Given the description of an element on the screen output the (x, y) to click on. 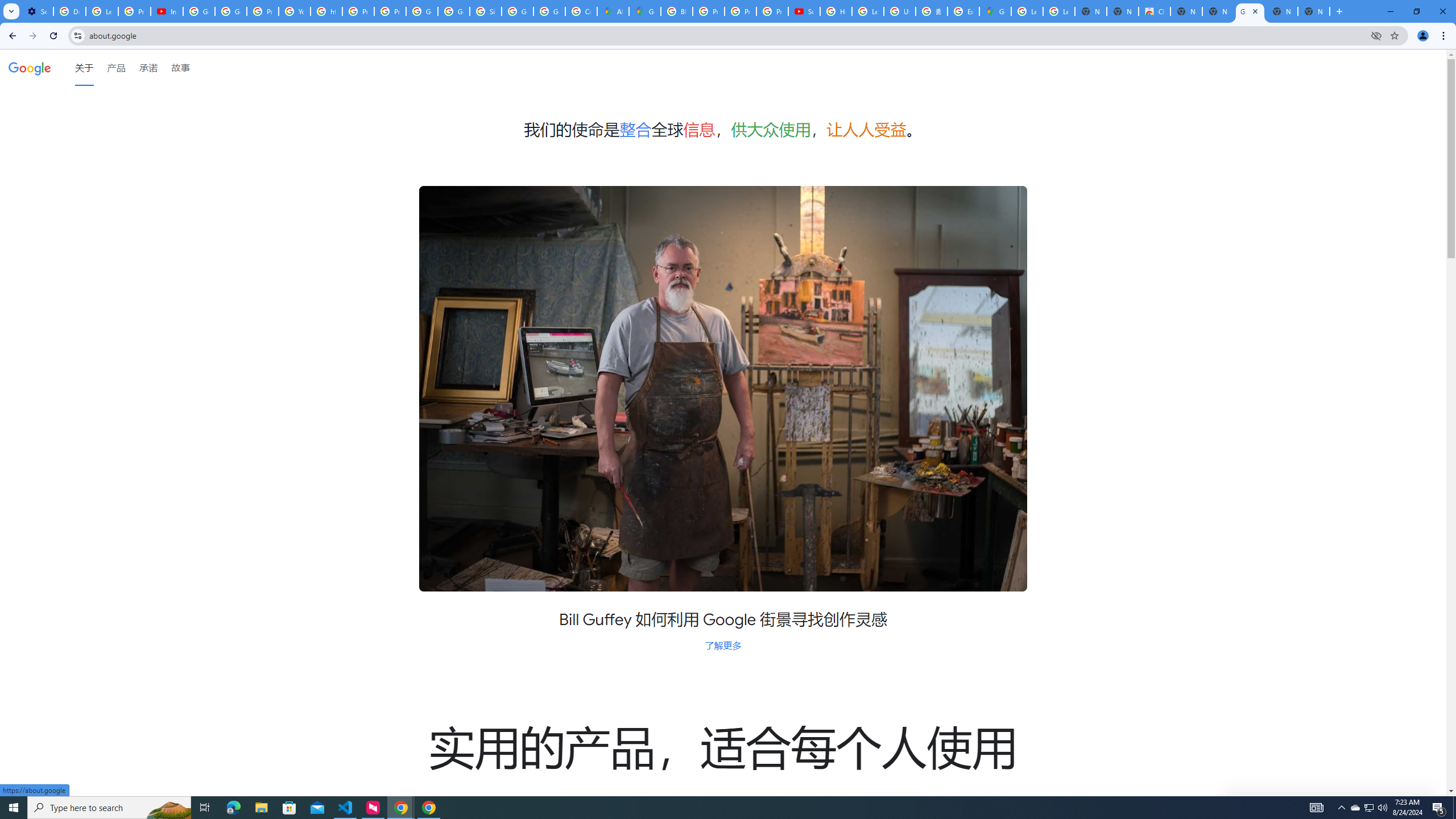
Create your Google Account (581, 11)
Privacy Help Center - Policies Help (262, 11)
Delete photos & videos - Computer - Google Photos Help (69, 11)
